Given the description of an element on the screen output the (x, y) to click on. 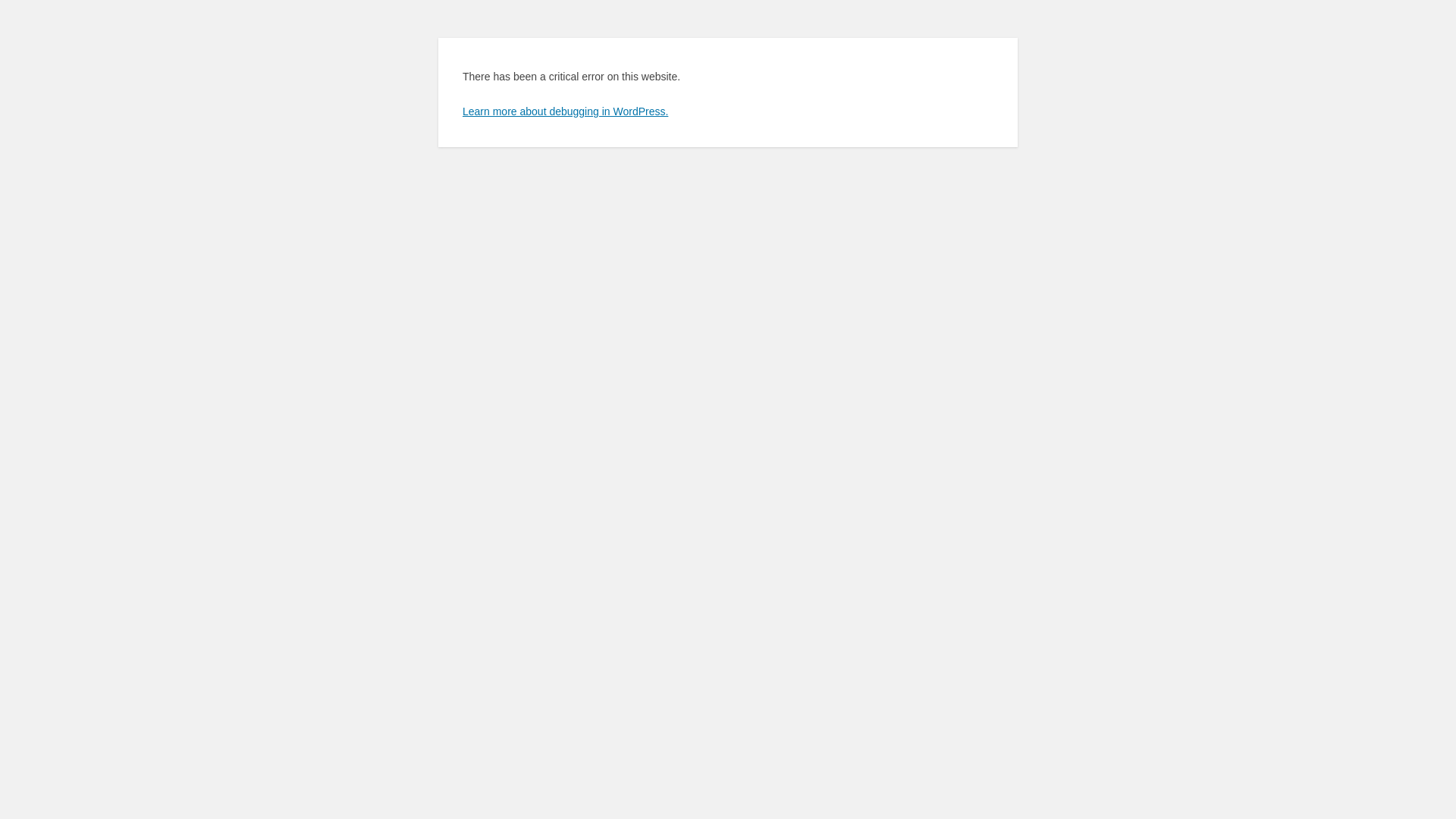
Learn more about debugging in WordPress. Element type: text (565, 111)
